Given the description of an element on the screen output the (x, y) to click on. 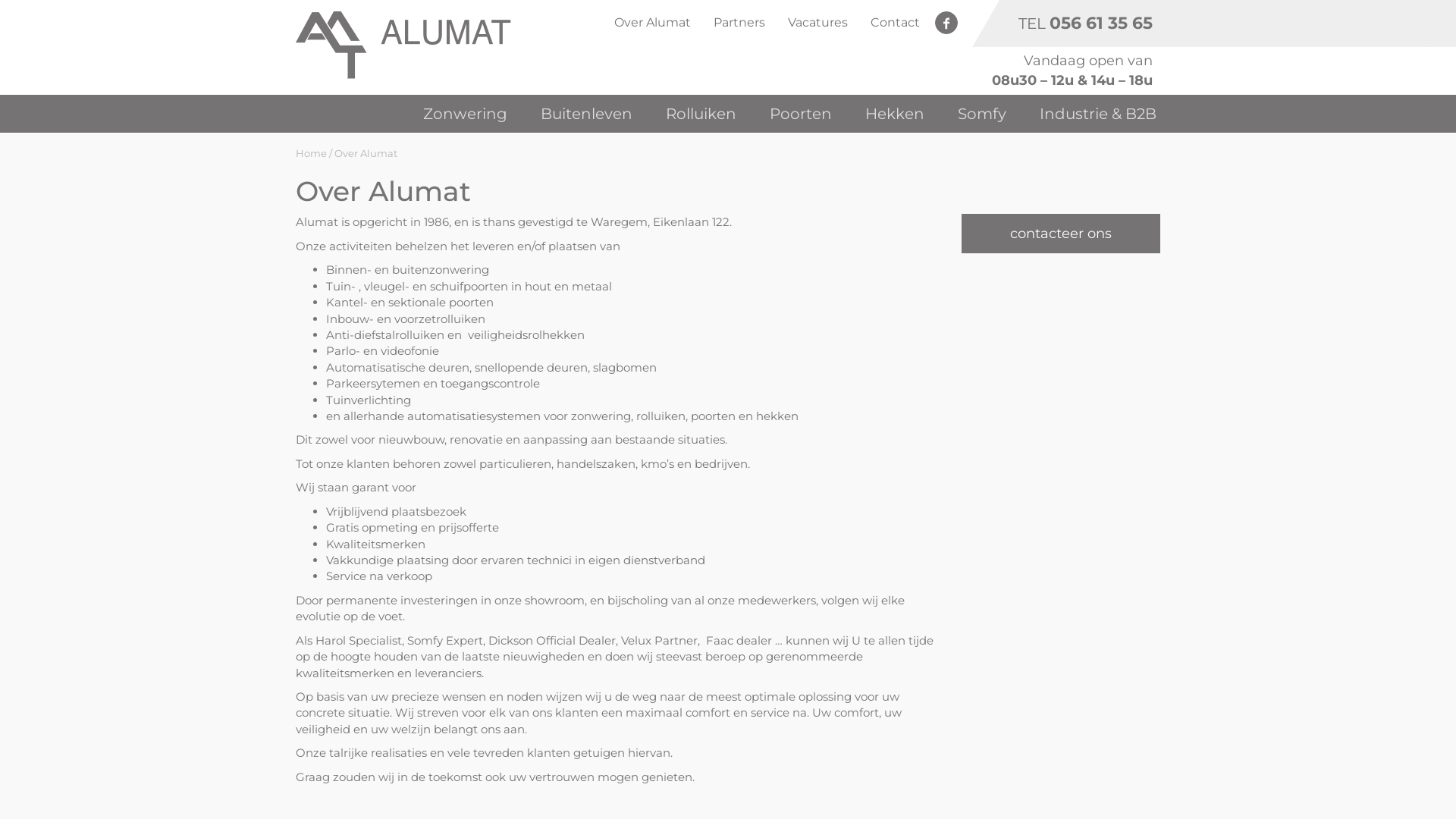
Partners Element type: text (739, 22)
Industrie & B2B Element type: text (1097, 113)
Hekken Element type: text (894, 113)
Over Alumat Element type: text (652, 22)
Rolluiken Element type: text (700, 113)
Poorten Element type: text (800, 113)
Somfy Element type: text (981, 113)
Zonwering Element type: text (464, 113)
Vacatures Element type: text (817, 22)
contacteer ons Element type: text (1061, 233)
056 61 35 65 Element type: text (1100, 22)
Buitenleven Element type: text (586, 113)
Contact Element type: text (895, 22)
Home Element type: text (310, 153)
